Given the description of an element on the screen output the (x, y) to click on. 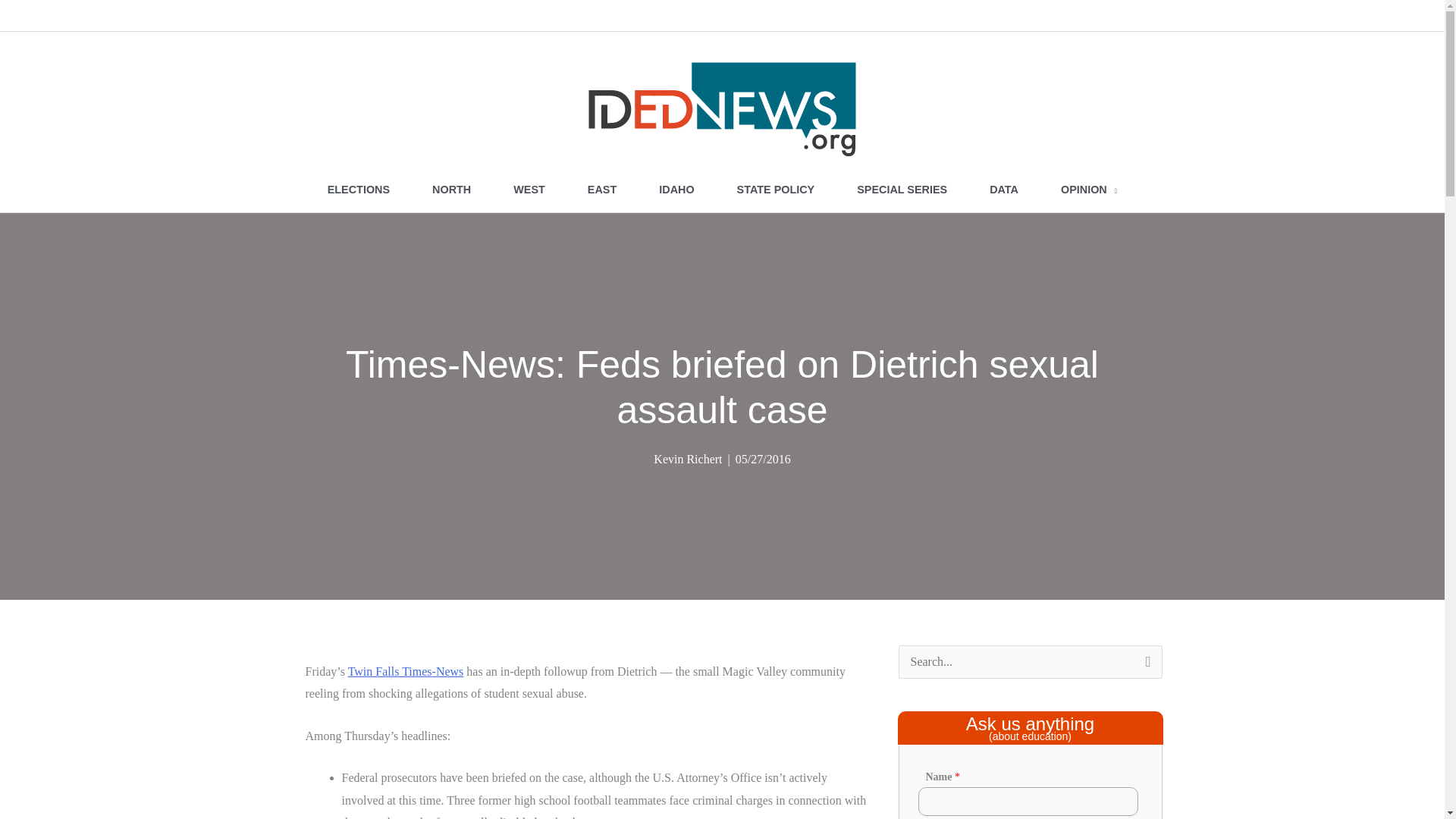
OPINION (1088, 190)
STATE POLICY (775, 190)
Kevin Richert (687, 459)
SPECIAL SERIES (901, 190)
EAST (601, 190)
IDAHO (675, 190)
NORTH (451, 190)
DATA (1003, 190)
WEST (529, 190)
Twin Falls Times-News (405, 671)
ELECTIONS (357, 190)
